Given the description of an element on the screen output the (x, y) to click on. 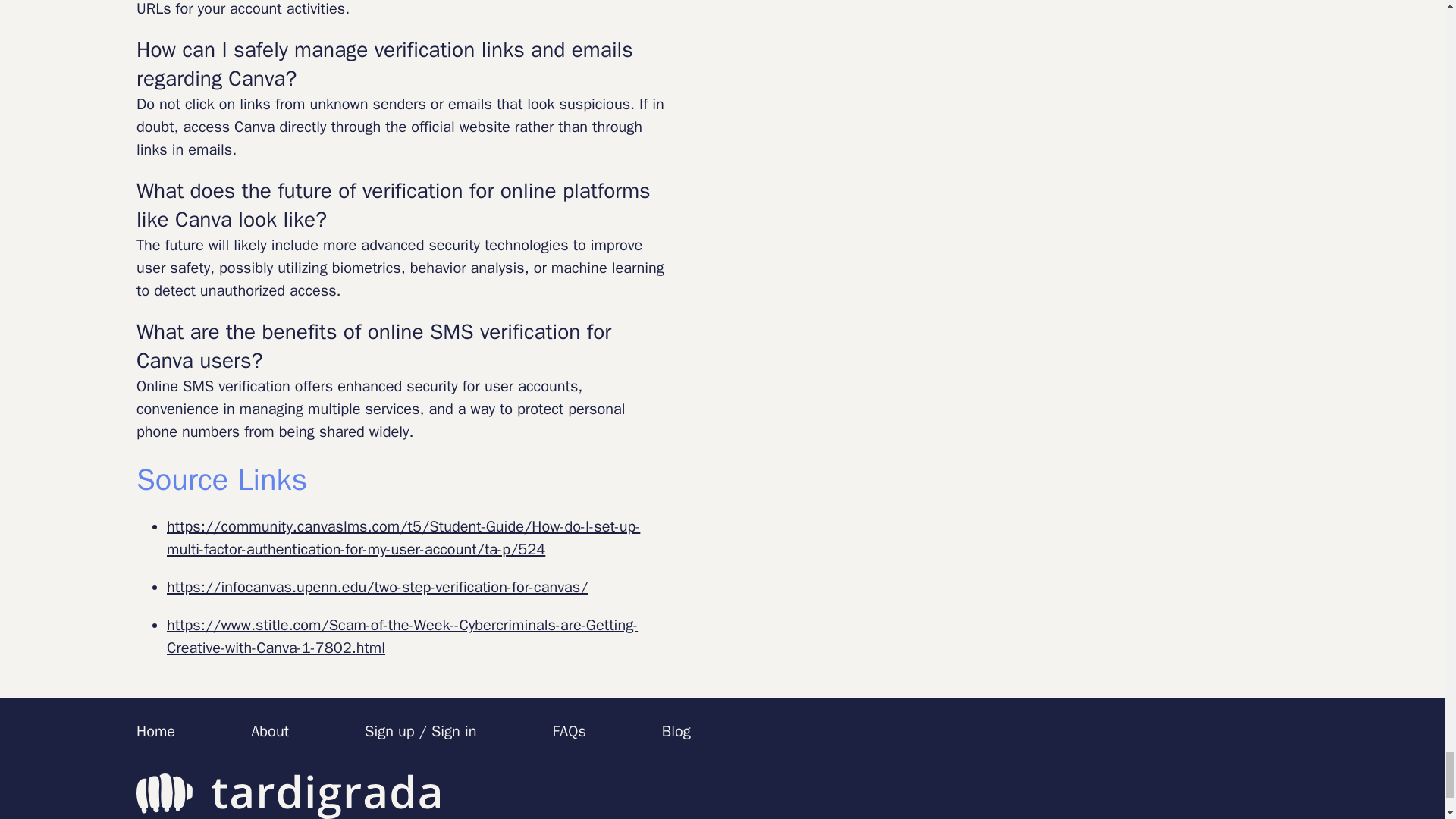
About (269, 731)
Home (155, 731)
Blog (676, 731)
FAQs (568, 731)
